Given the description of an element on the screen output the (x, y) to click on. 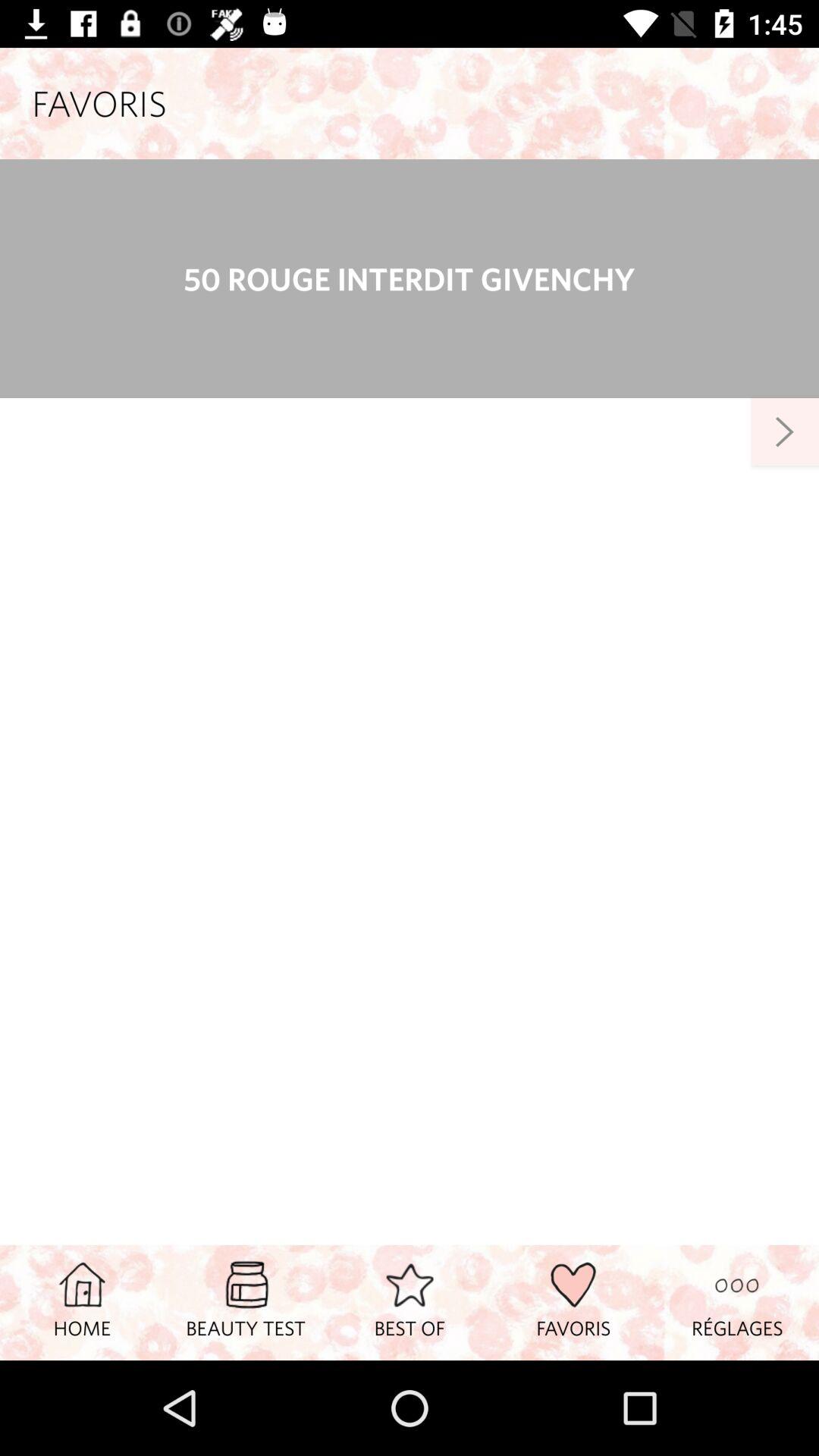
tap item to the right of beauty test (409, 1302)
